Given the description of an element on the screen output the (x, y) to click on. 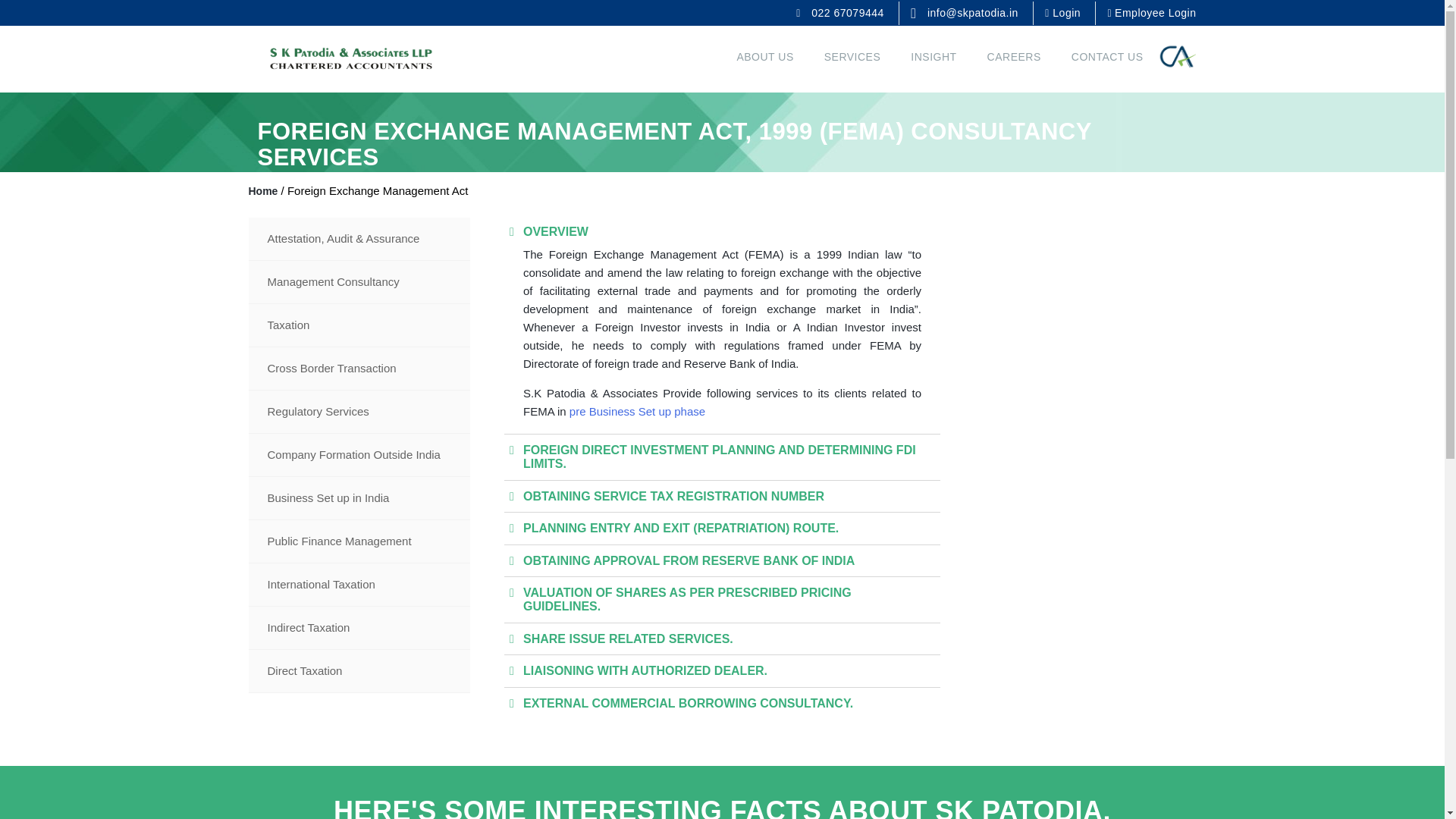
Login (1064, 12)
Employee Login (1150, 12)
Leading CA Firm (350, 57)
022 67079444 (841, 12)
